Given the description of an element on the screen output the (x, y) to click on. 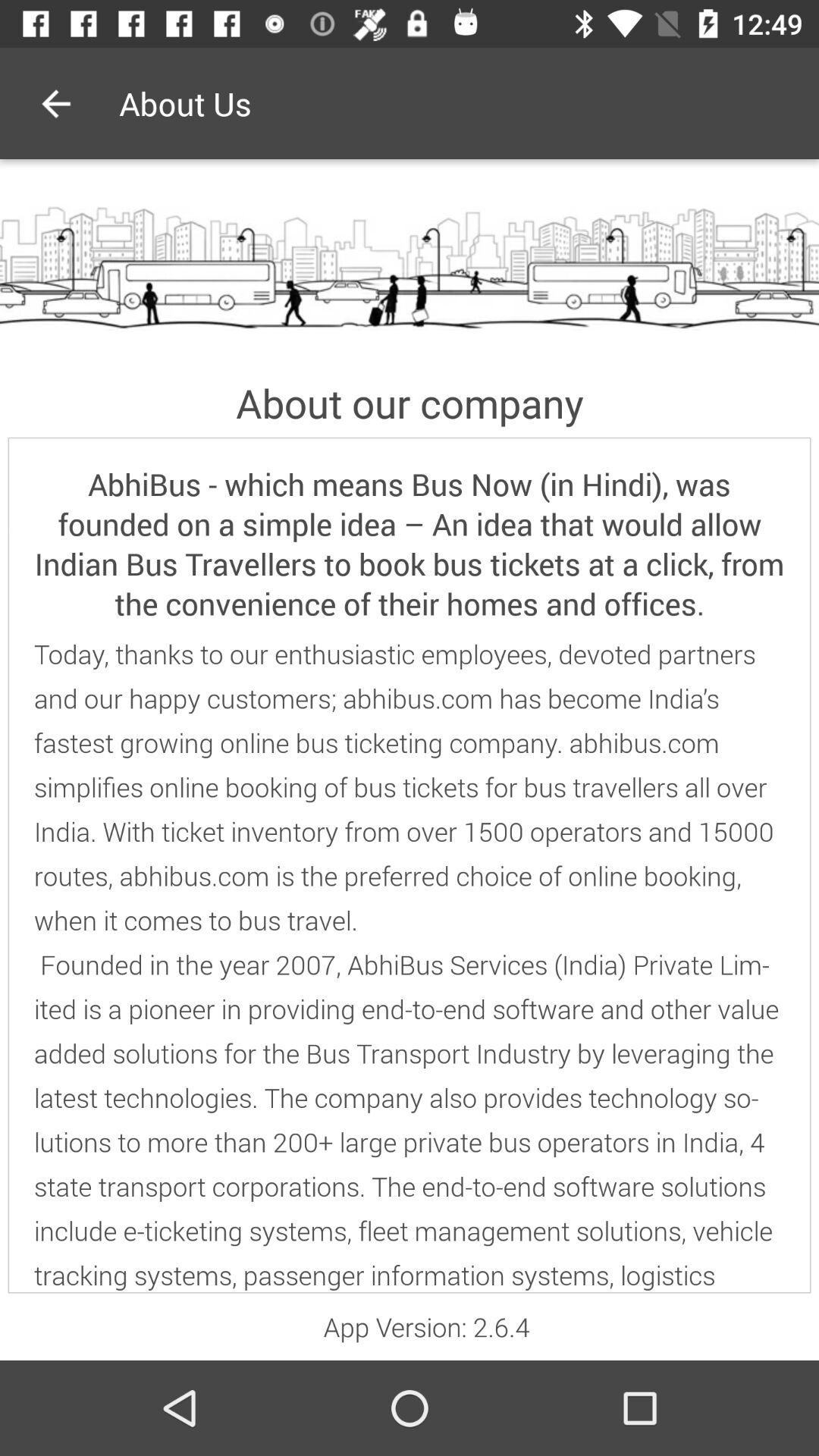
turn off the icon next to about us app (55, 103)
